Given the description of an element on the screen output the (x, y) to click on. 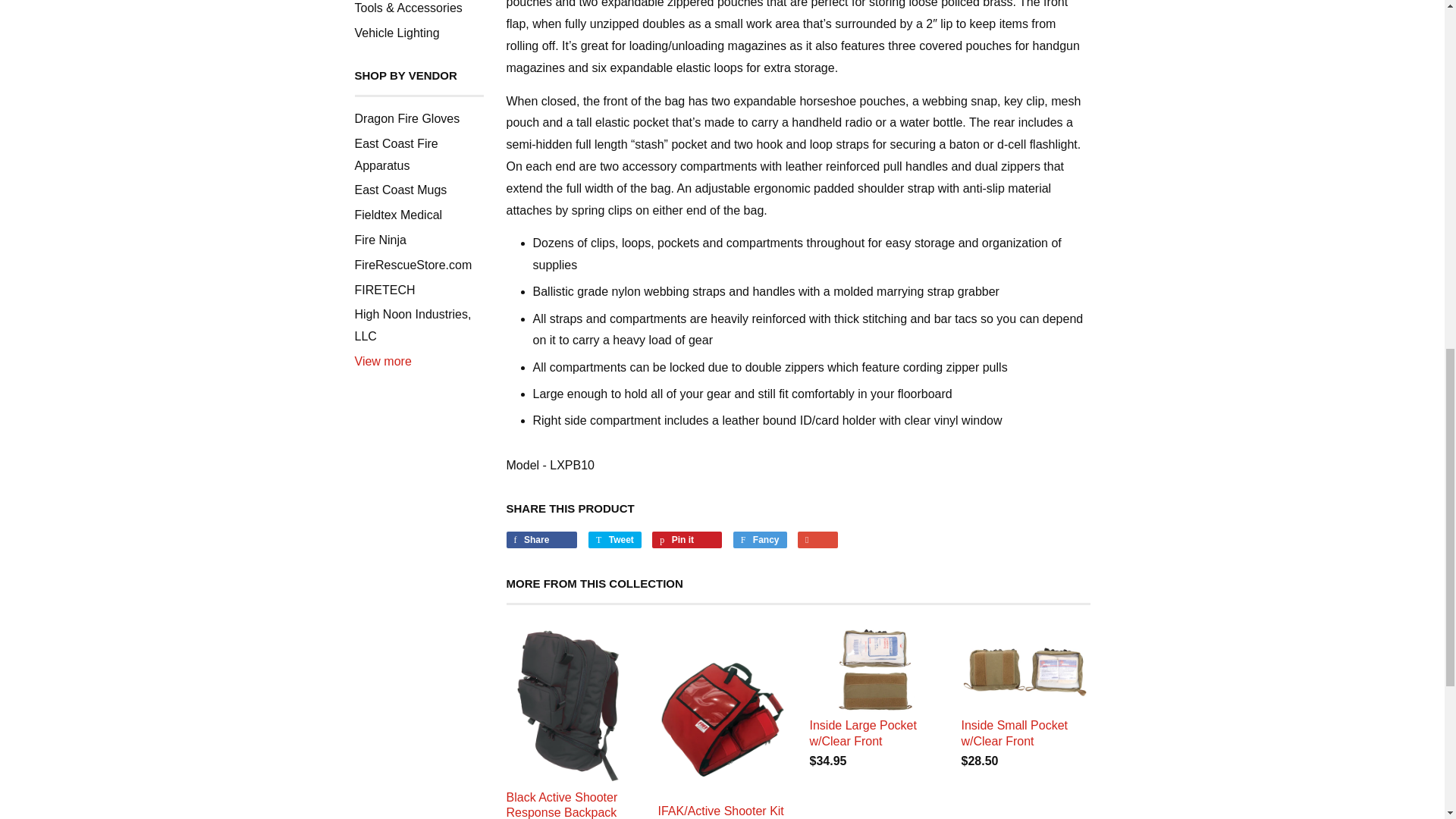
Tweet on Twitter (615, 539)
Share on Facebook (542, 539)
Add to Fancy (760, 539)
Pin on Pinterest (687, 539)
